Given the description of an element on the screen output the (x, y) to click on. 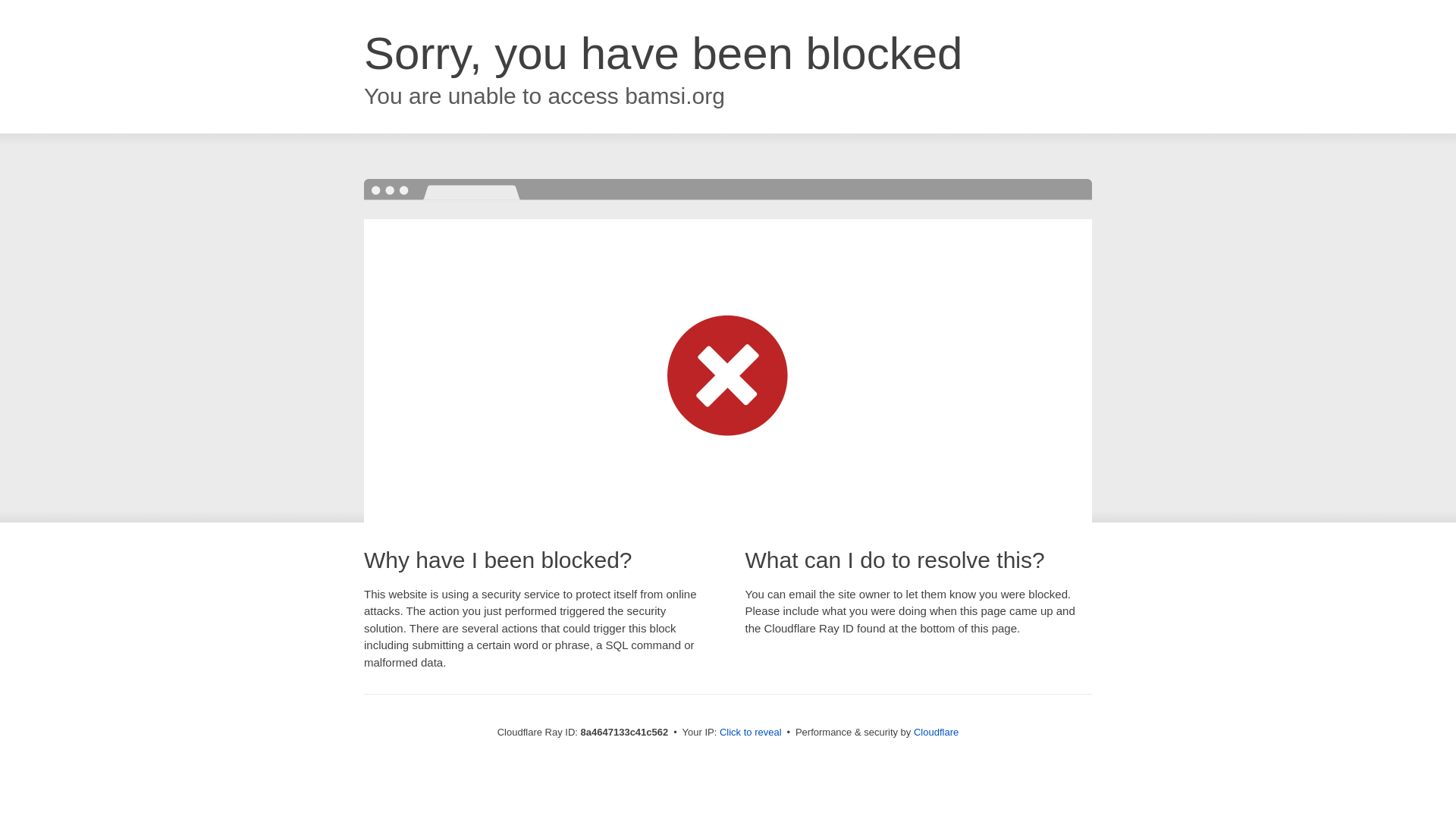
Cloudflare (936, 731)
Click to reveal (750, 732)
